Given the description of an element on the screen output the (x, y) to click on. 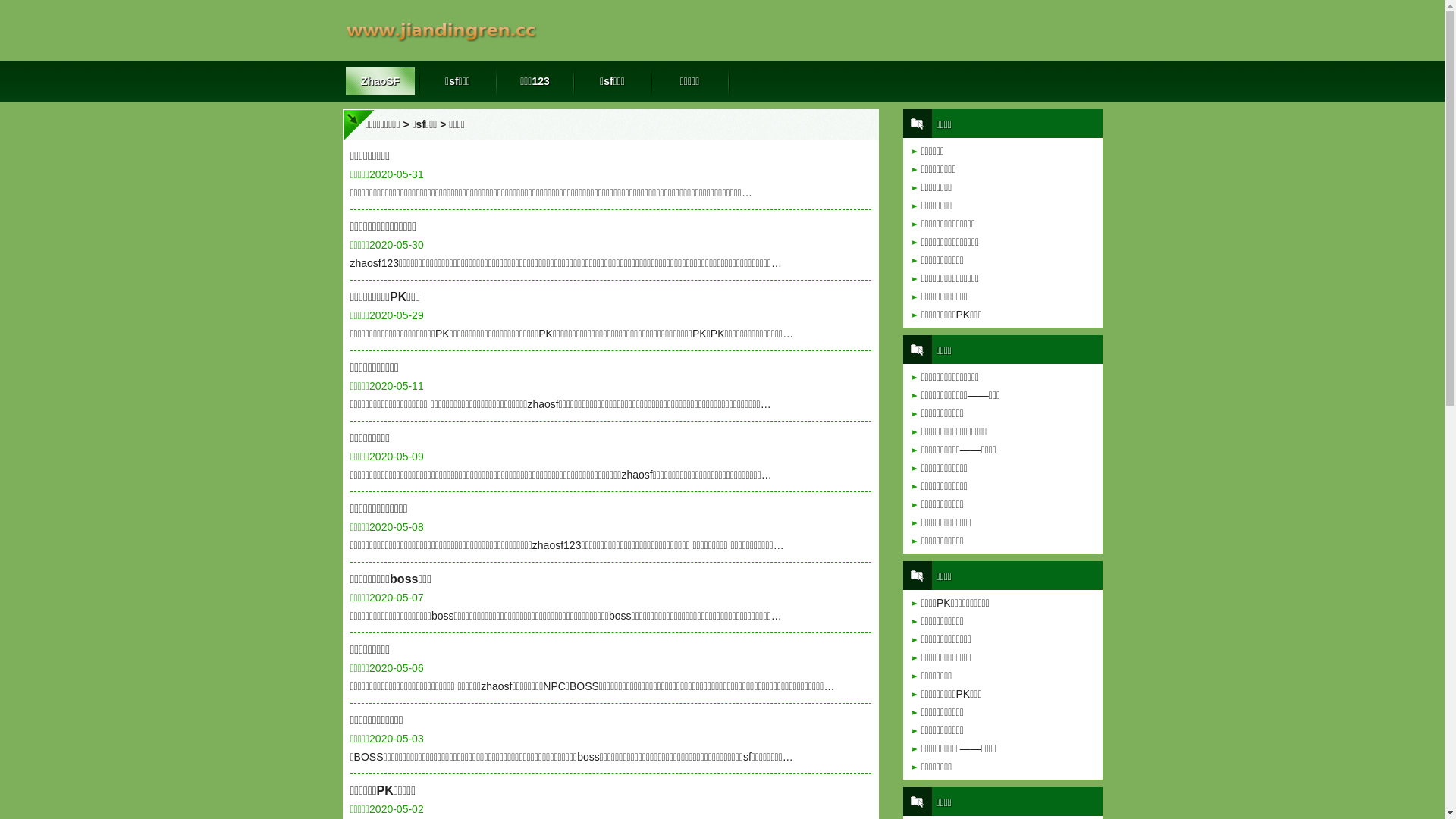
ZhaoSF Element type: text (380, 80)
